Given the description of an element on the screen output the (x, y) to click on. 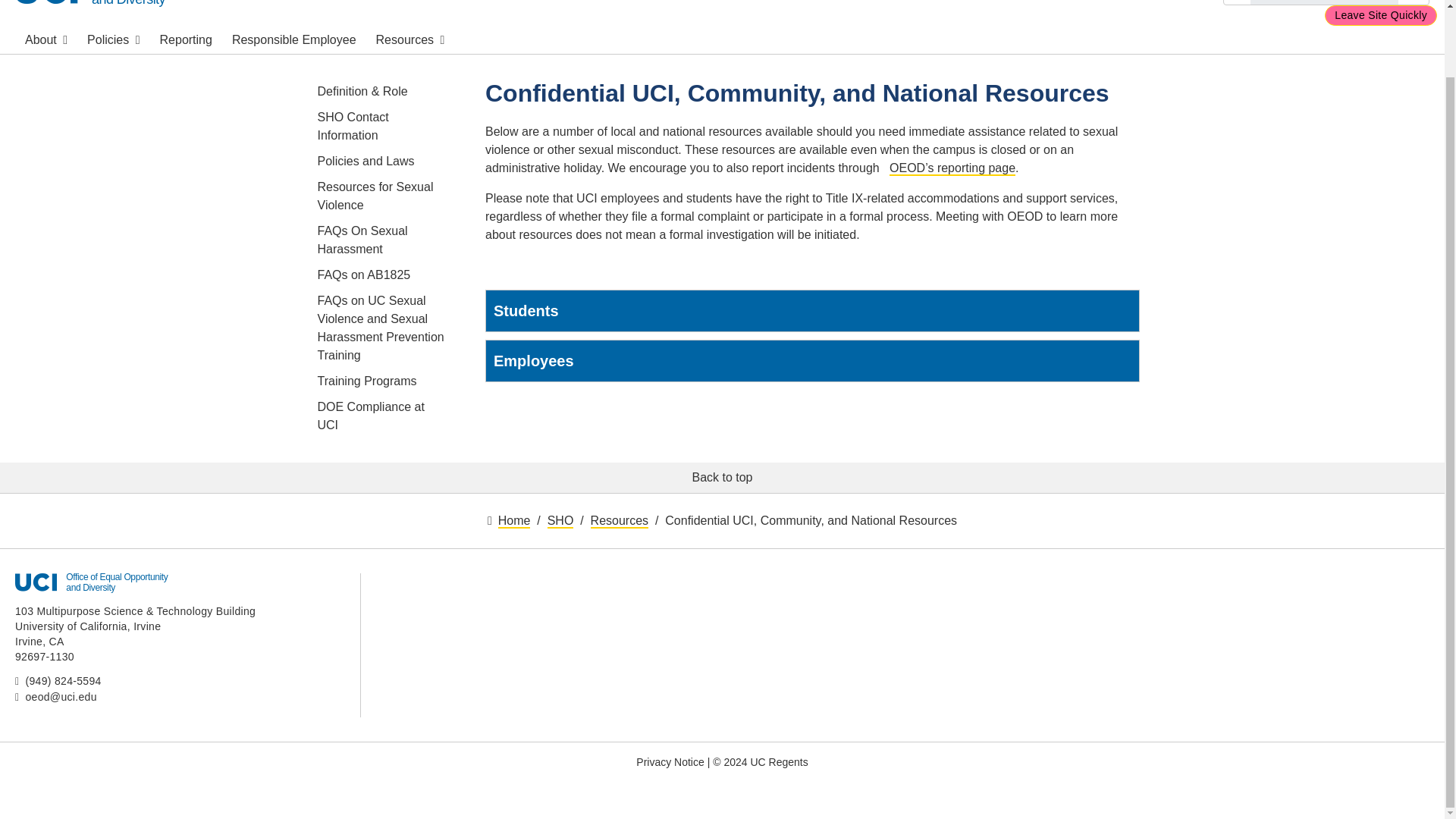
Responsible Employee (129, 2)
Resources (294, 38)
About (410, 38)
Select search type (45, 38)
Policies (1237, 2)
Reporting (113, 38)
Search (185, 38)
